Given the description of an element on the screen output the (x, y) to click on. 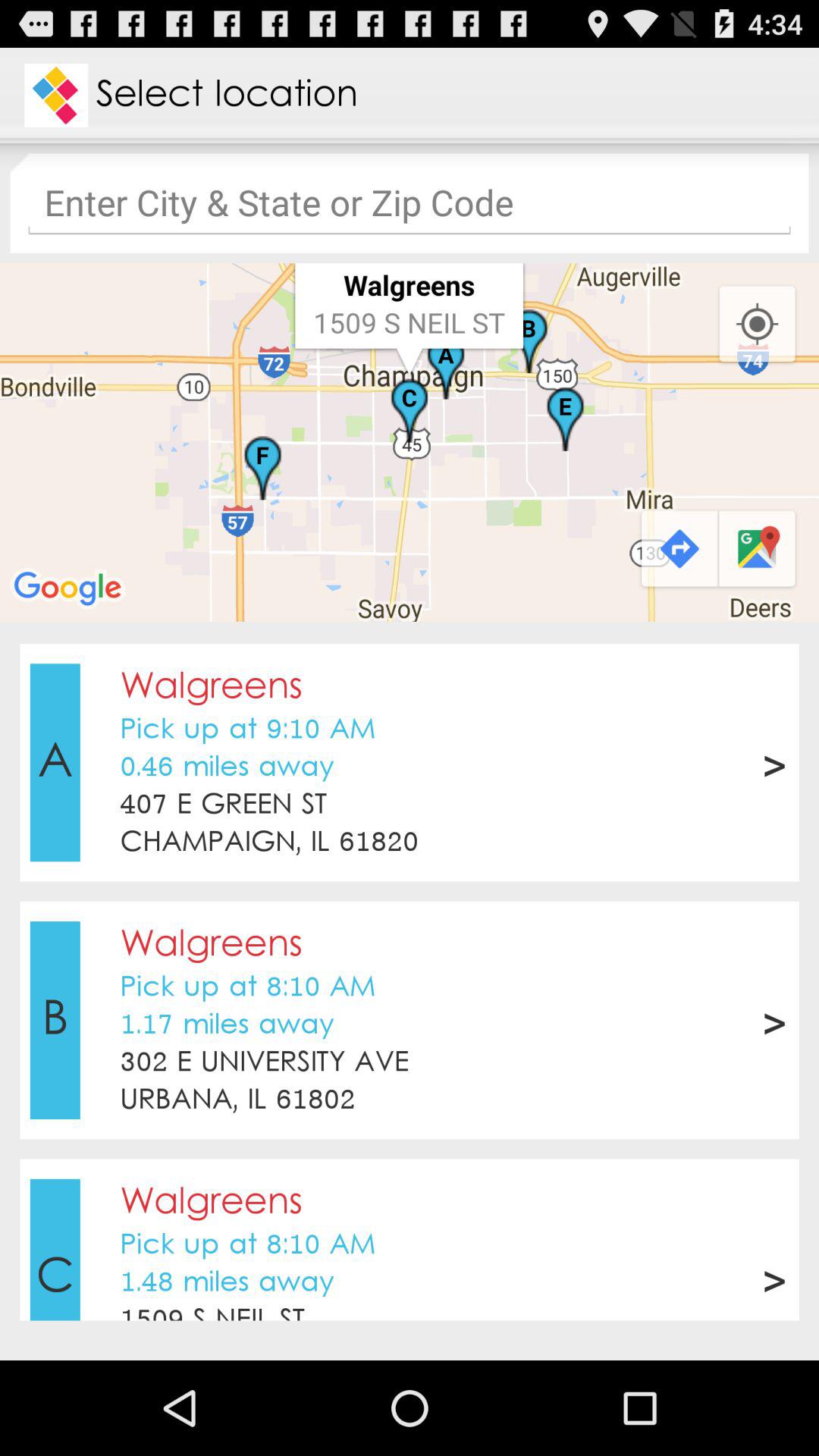
launch the 407 e green icon (223, 805)
